Given the description of an element on the screen output the (x, y) to click on. 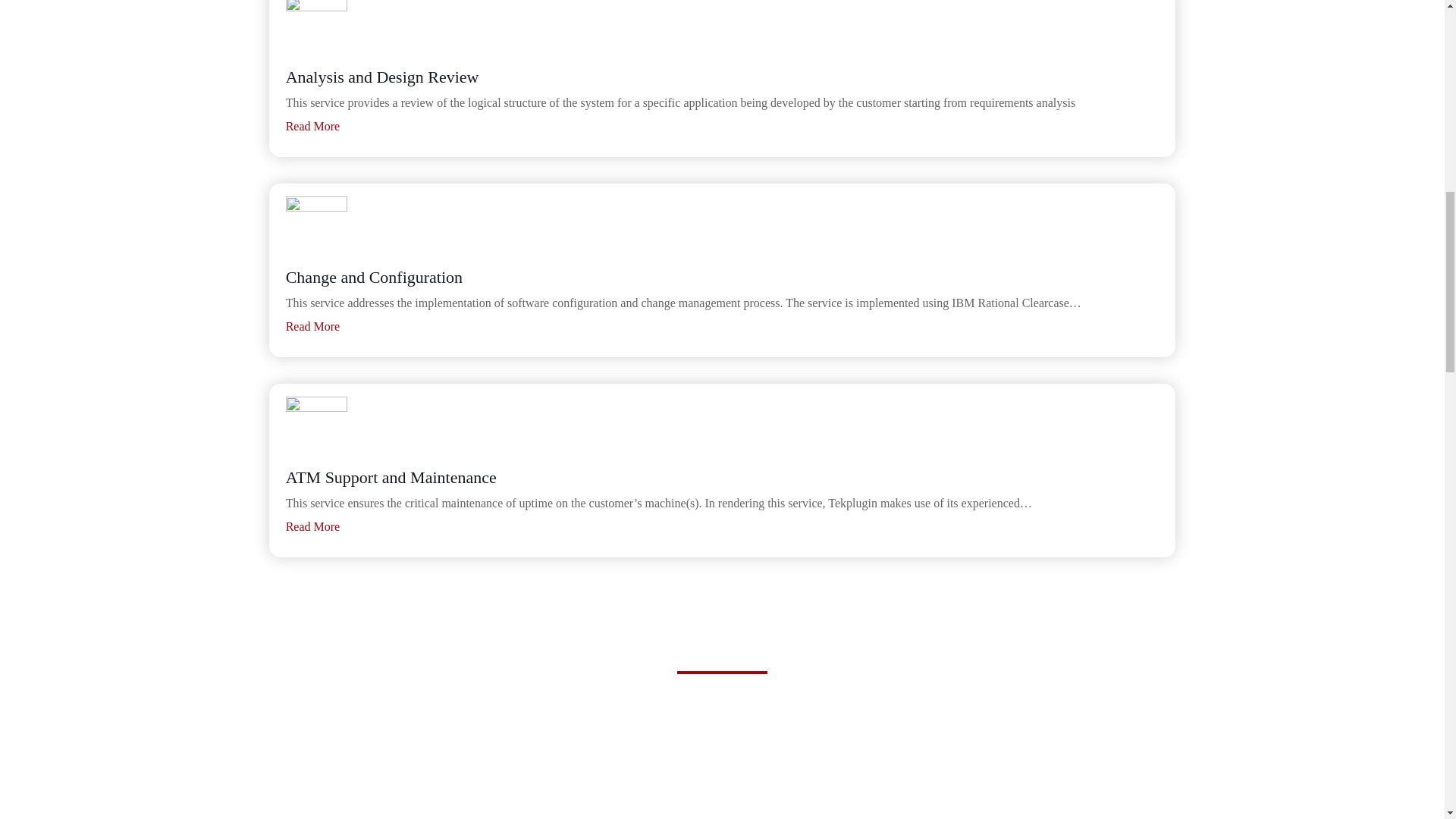
Read More (312, 526)
Read More (312, 326)
Read More (312, 125)
